Given the description of an element on the screen output the (x, y) to click on. 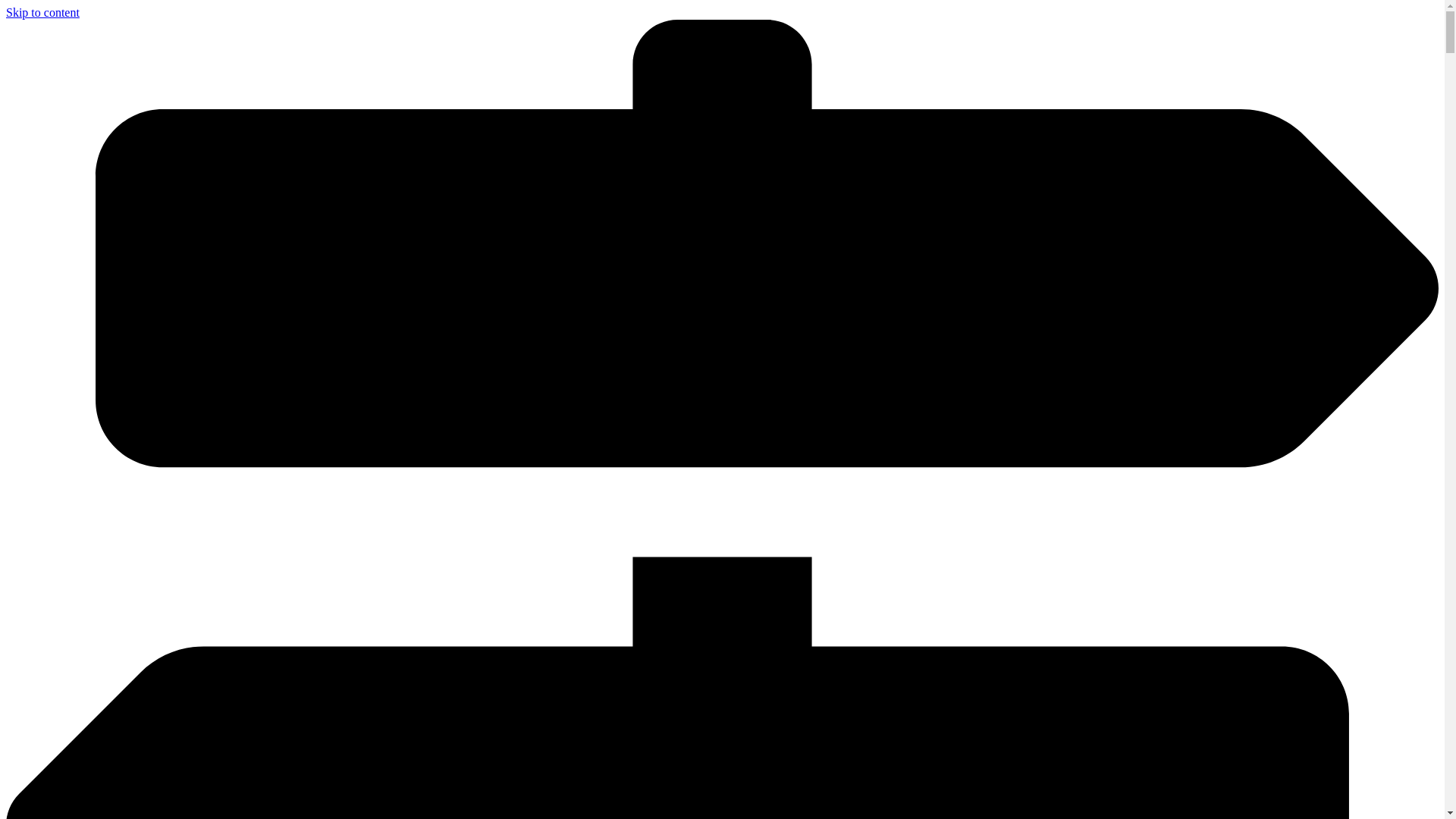
Skip to content Element type: text (42, 12)
